Given the description of an element on the screen output the (x, y) to click on. 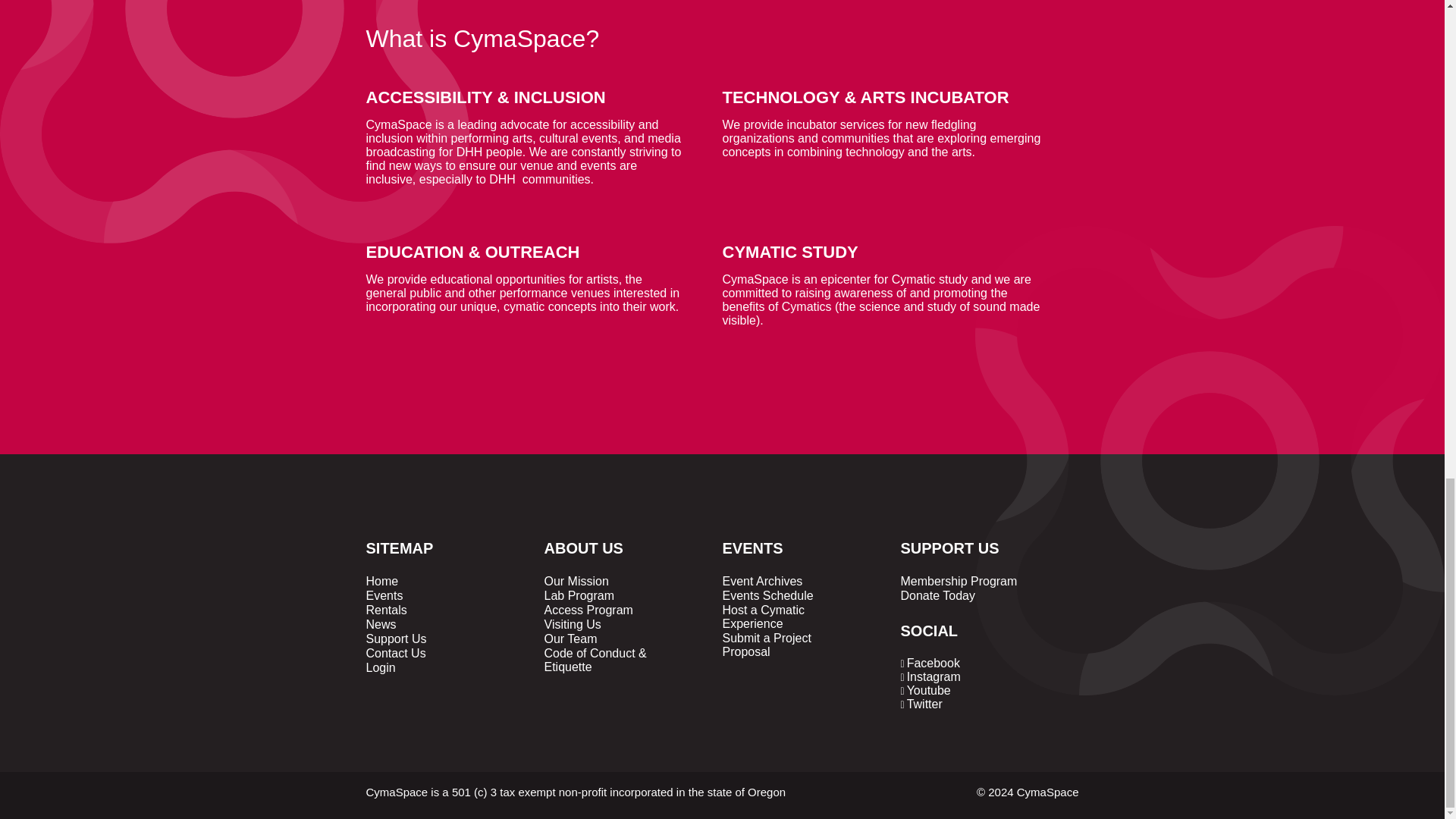
Login (379, 667)
Events Schedule (767, 594)
CymaSpace Rentals (385, 609)
CymaSpace News (380, 624)
visiting cymaspace (572, 624)
Our Mission (576, 581)
cymaspace mission (576, 581)
Support Us (395, 638)
Lab Program (579, 594)
Membership Program (959, 581)
Support CymaSpace (395, 638)
Submit a Project Proposal (766, 644)
Admin Login (379, 667)
Our Team (570, 638)
Visiting Us (572, 624)
